Given the description of an element on the screen output the (x, y) to click on. 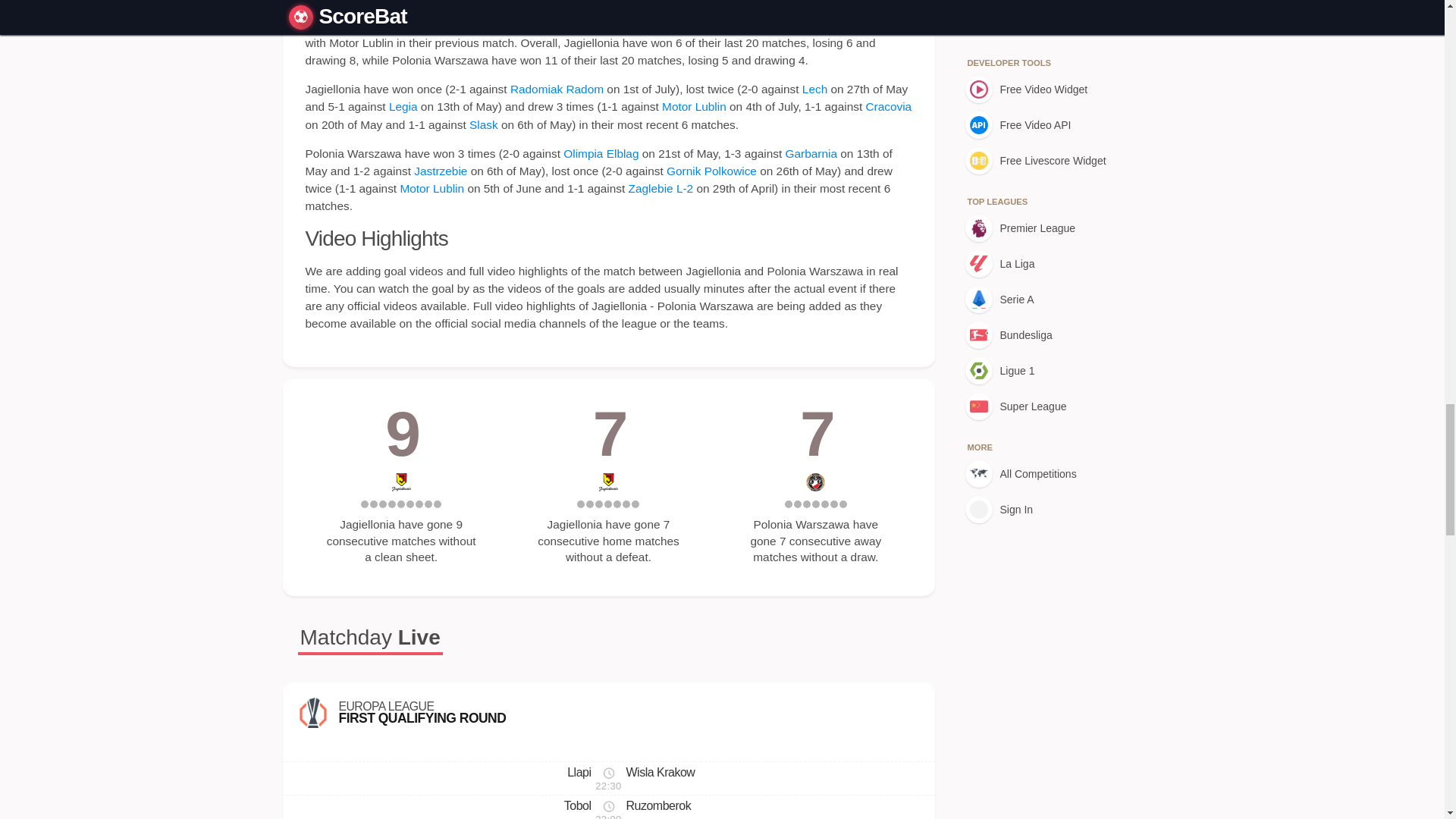
Slask (608, 807)
Motor Lublin (482, 124)
Garbarnia (694, 106)
Gornik Polkowice (811, 153)
Motor Lublin (711, 170)
Legia (431, 187)
Cracovia (402, 106)
Lech (887, 106)
Tobol - Ruzomberok Live (814, 88)
Jastrzebie (608, 807)
Radomiak Radom (440, 170)
Llapi - Wisla Krakow Live (557, 88)
Olimpia Elblag (608, 778)
